Given the description of an element on the screen output the (x, y) to click on. 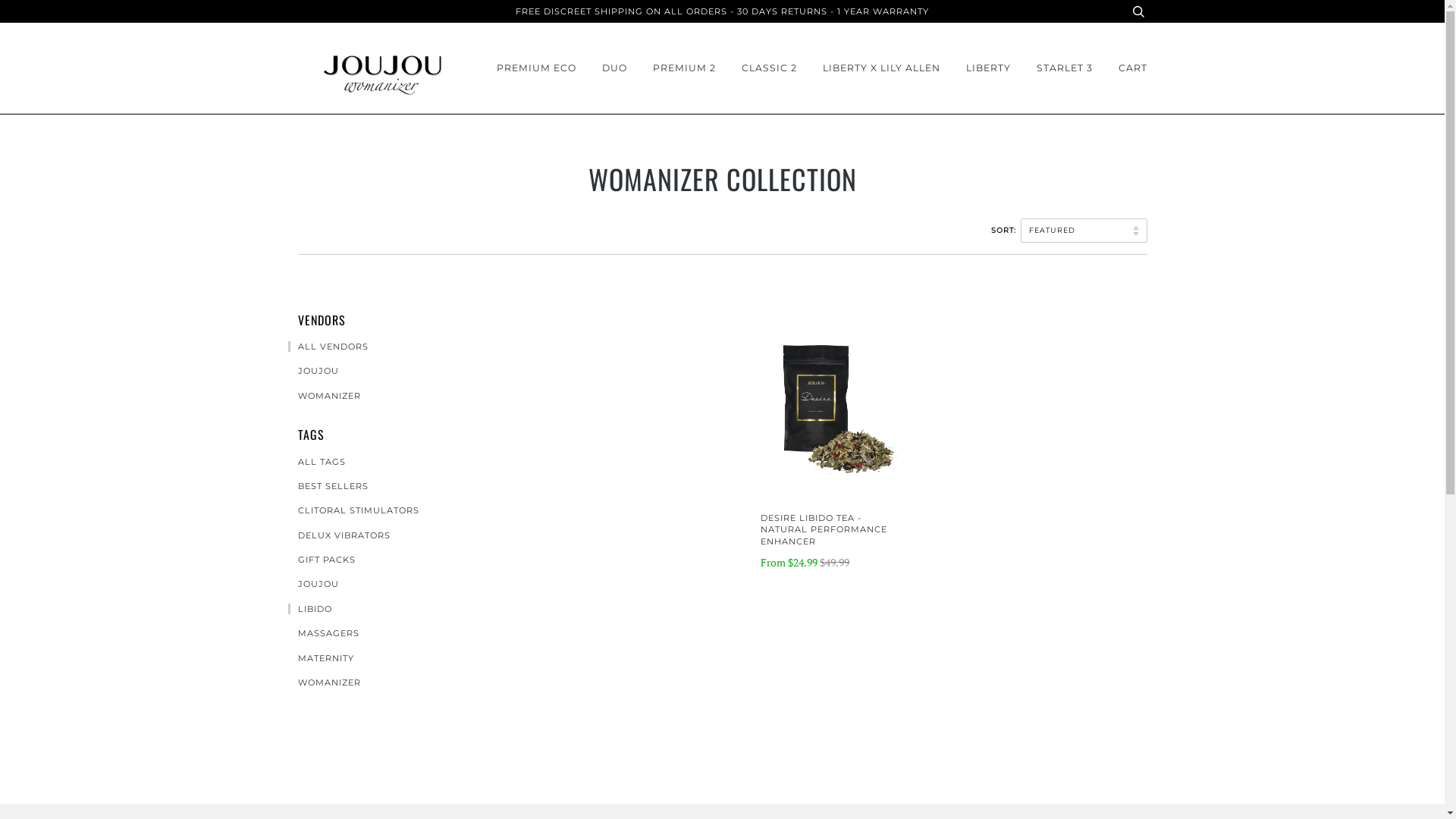
ALL TAGS Element type: text (316, 461)
CLITORAL STIMULATORS Element type: text (353, 510)
GIFT PACKS Element type: text (321, 559)
MASSAGERS Element type: text (323, 632)
DELUX VIBRATORS Element type: text (339, 535)
PREMIUM ECO Element type: text (535, 67)
LIBERTY X LILY ALLEN Element type: text (880, 67)
LIBERTY Element type: text (988, 67)
BEST SELLERS Element type: text (328, 485)
CLASSIC 2 Element type: text (769, 67)
STARLET 3 Element type: text (1063, 67)
WOMANIZER Element type: text (324, 395)
JOUJOU Element type: text (313, 370)
LIBIDO Element type: text (310, 608)
CART Element type: text (1131, 67)
ALL VENDORS Element type: text (328, 346)
WOMANIZER Element type: text (324, 682)
JOUJOU Element type: text (313, 583)
DUO Element type: text (614, 67)
MATERNITY Element type: text (321, 657)
PREMIUM 2 Element type: text (683, 67)
